Given the description of an element on the screen output the (x, y) to click on. 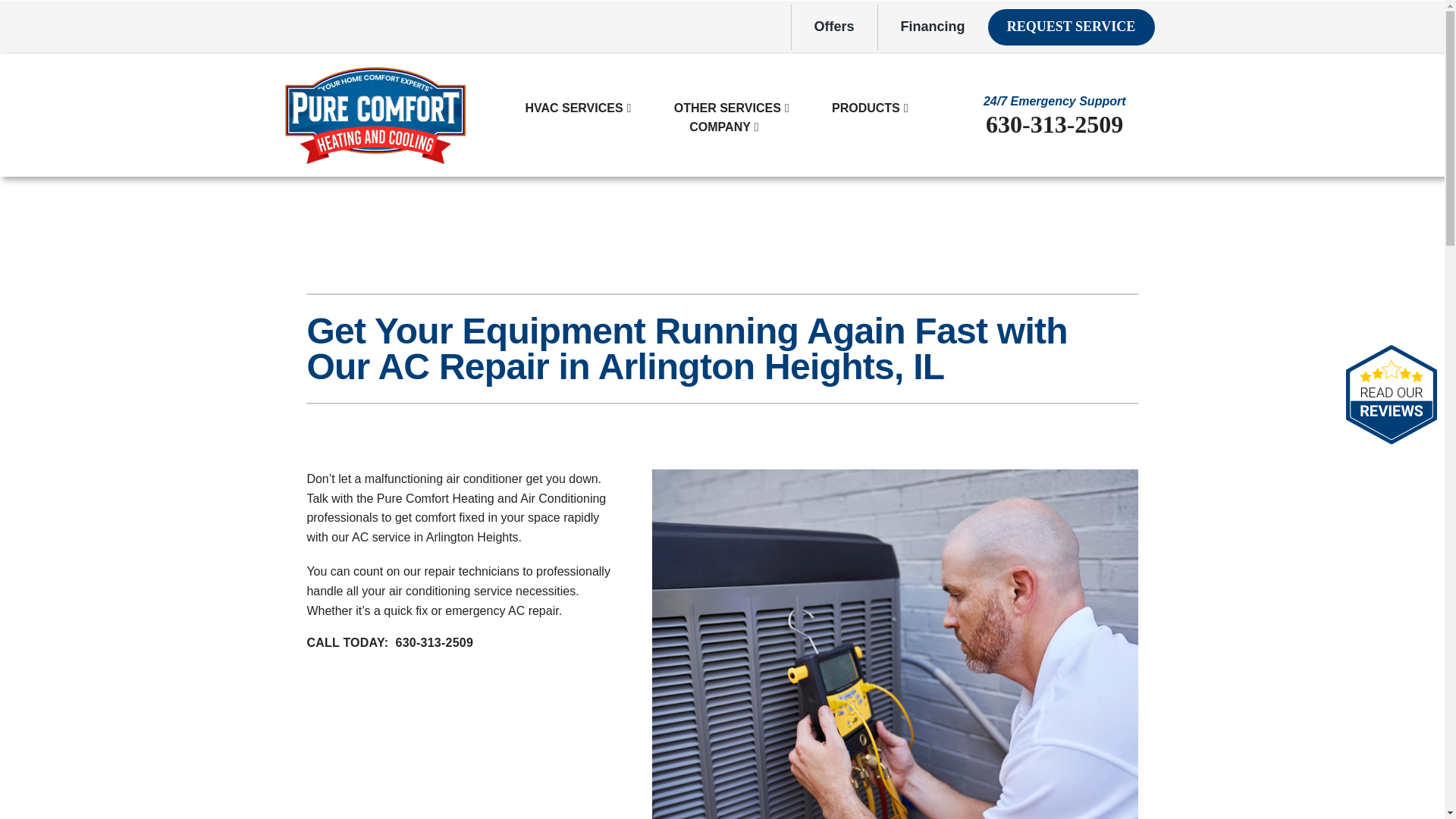
REQUEST SERVICE (1071, 27)
PRODUCTS (866, 108)
HVAC SERVICES (573, 108)
OTHER SERVICES (726, 108)
Financing (932, 26)
Offers (833, 26)
